Given the description of an element on the screen output the (x, y) to click on. 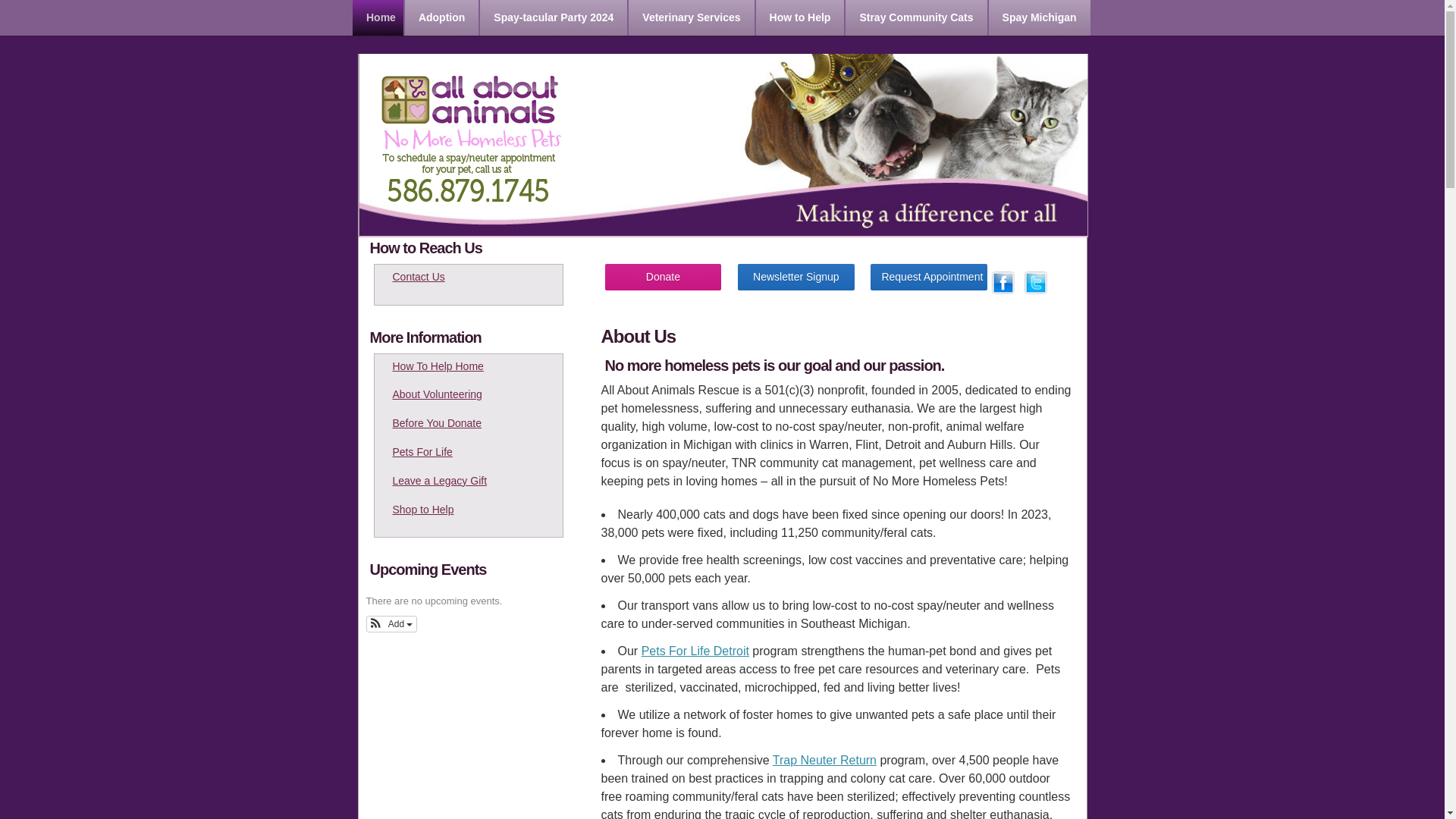
Veterinary Services (691, 18)
Home (378, 18)
Adoption (442, 18)
Spay-tacular Party 2024 (554, 18)
